Given the description of an element on the screen output the (x, y) to click on. 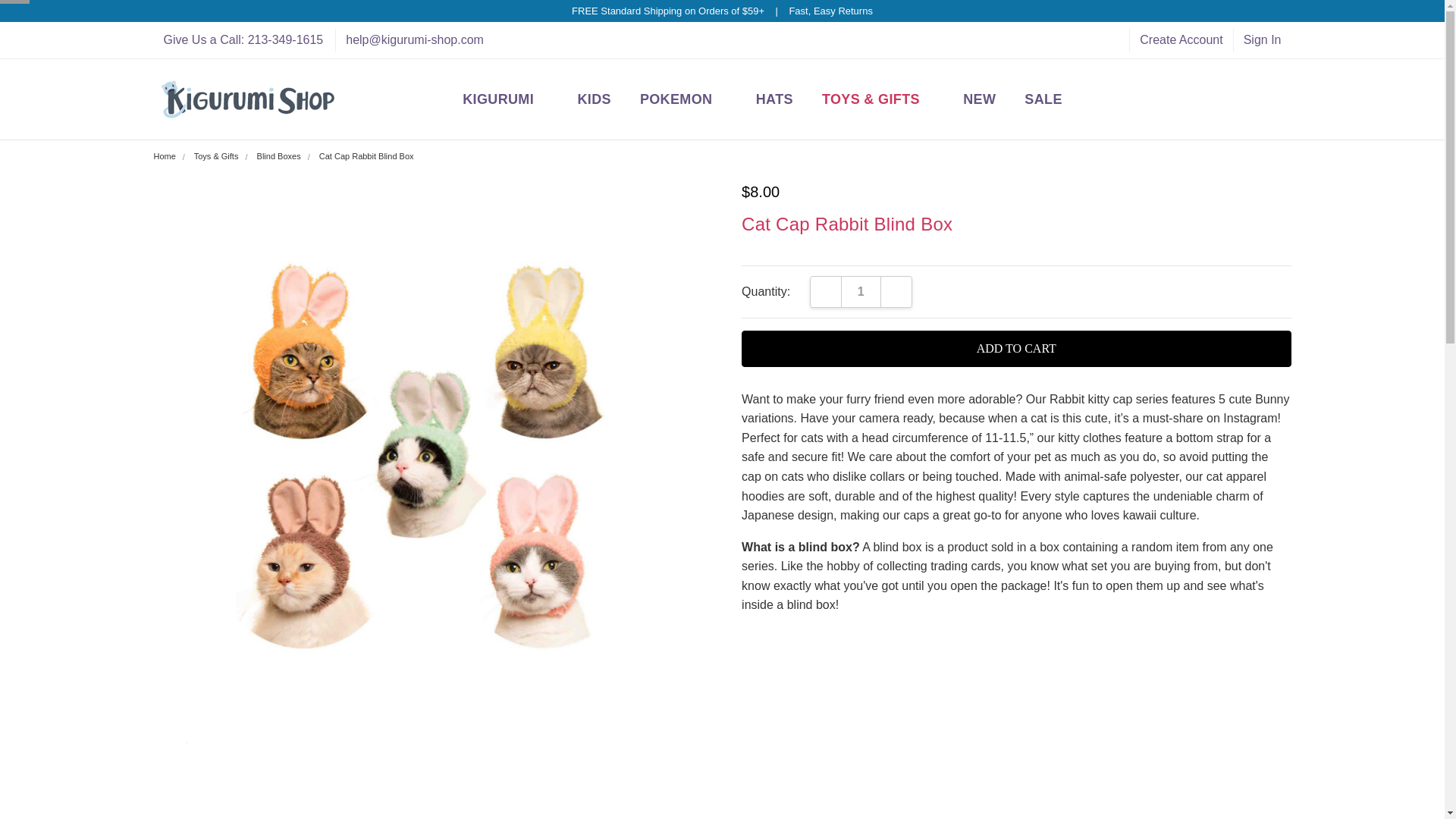
MY ACCOUNT (510, 98)
Return Policy (830, 10)
1 (860, 291)
Shipping Policy (668, 10)
Sign In (1262, 39)
Fast, Easy Returns (830, 10)
Kigurumi Shop (247, 98)
